Given the description of an element on the screen output the (x, y) to click on. 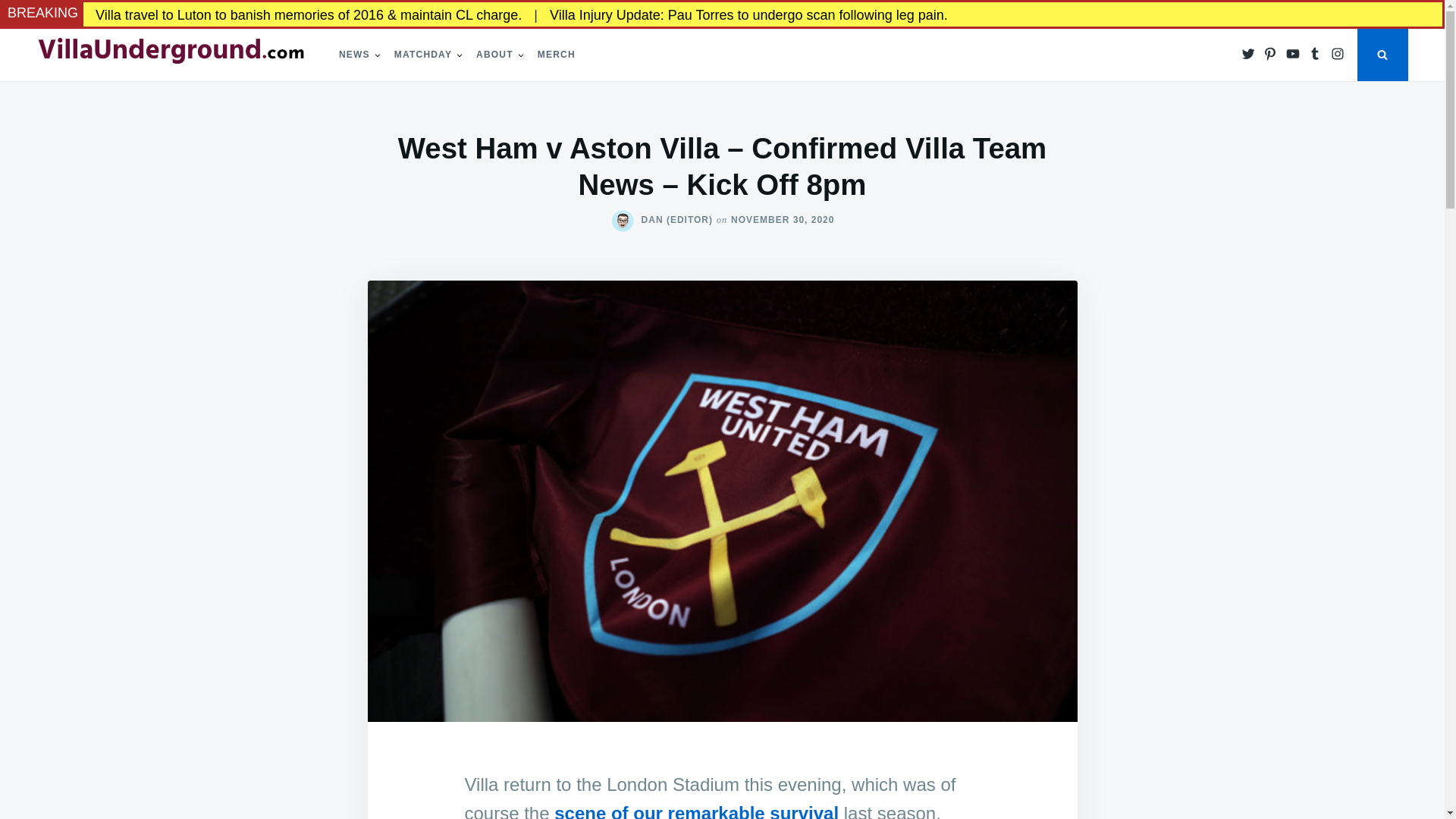
Pinterest (1270, 52)
NOVEMBER 30, 2020 (782, 219)
MERCH (556, 54)
NEWS (353, 54)
Villa Underground (114, 86)
Tumblr (1314, 52)
scene of our remarkable survival (696, 811)
Twitter (1247, 52)
Instagram (1337, 52)
MATCHDAY (422, 54)
Youtube (1292, 52)
ABOUT (494, 54)
